Given the description of an element on the screen output the (x, y) to click on. 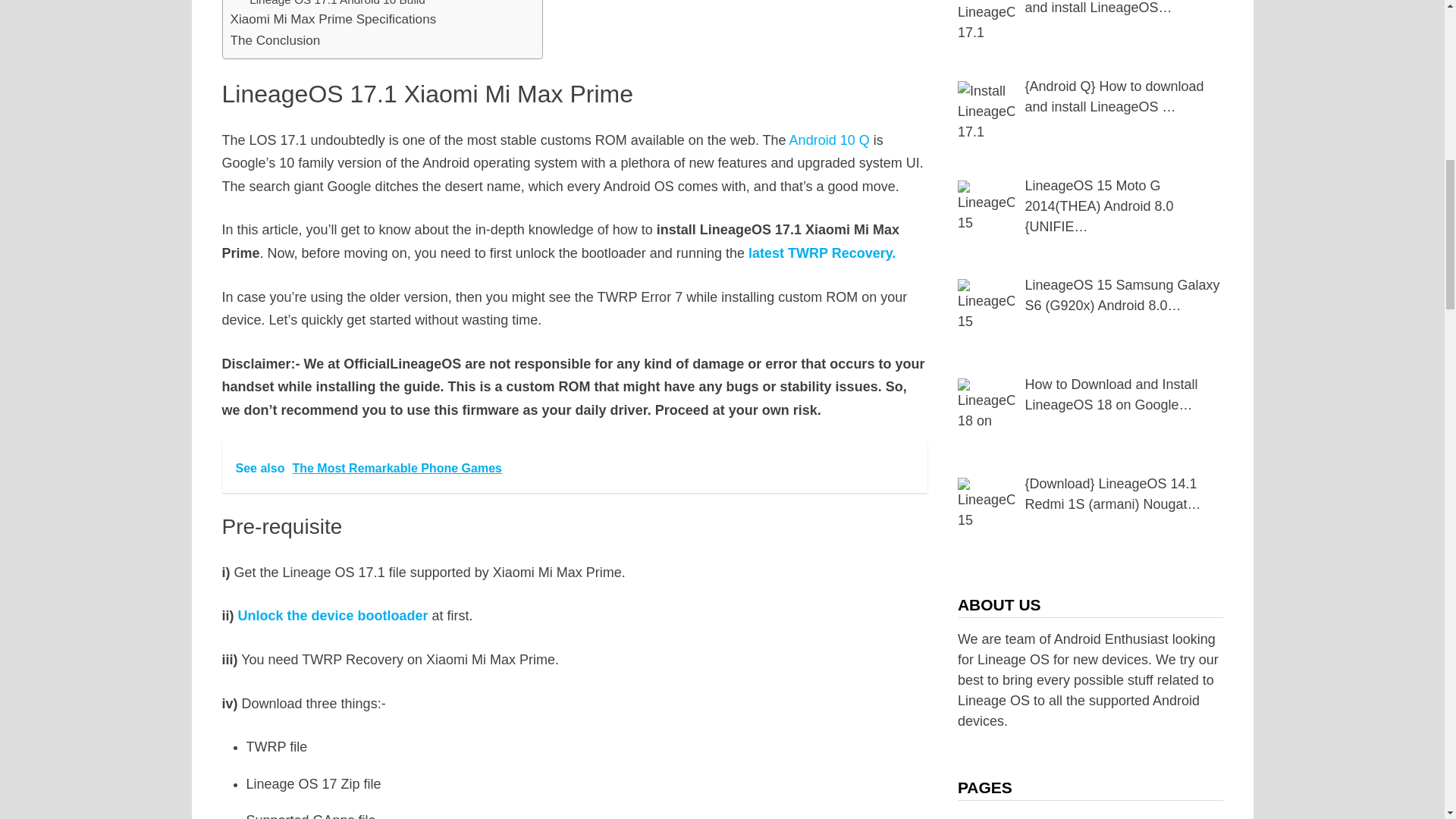
The Conclusion (275, 40)
Lineage OS 17.1 Android 10 Build (336, 4)
Xiaomi Mi Max Prime Specifications (333, 19)
